Given the description of an element on the screen output the (x, y) to click on. 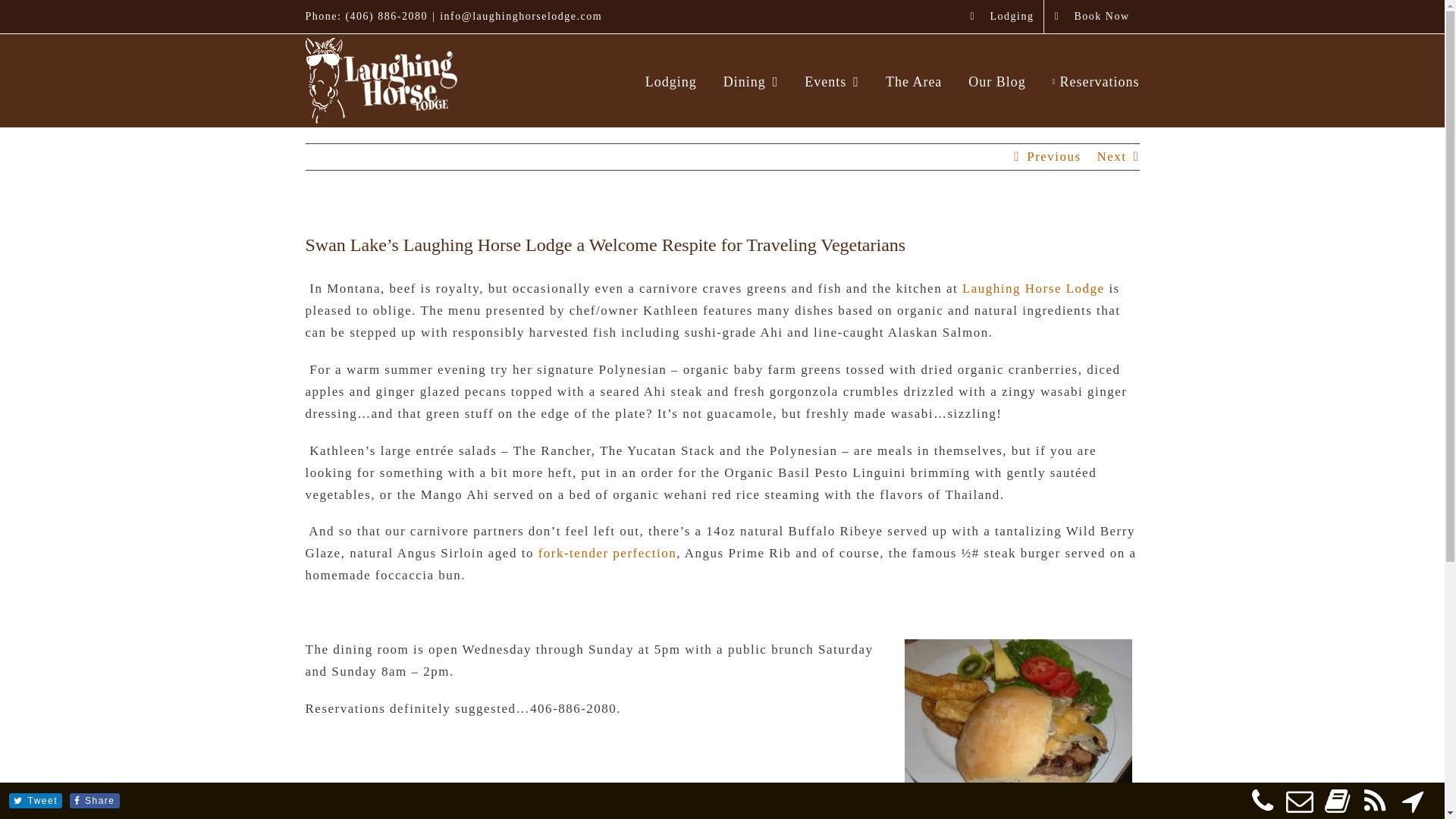
Lodging (1001, 16)
Laughing Horse Lodge (1035, 288)
Previous (1053, 156)
Next (1110, 156)
fork-tender perfection (607, 553)
The Best Burger in the Universe (1017, 724)
Reservations (1096, 80)
Book Now (1090, 16)
